Given the description of an element on the screen output the (x, y) to click on. 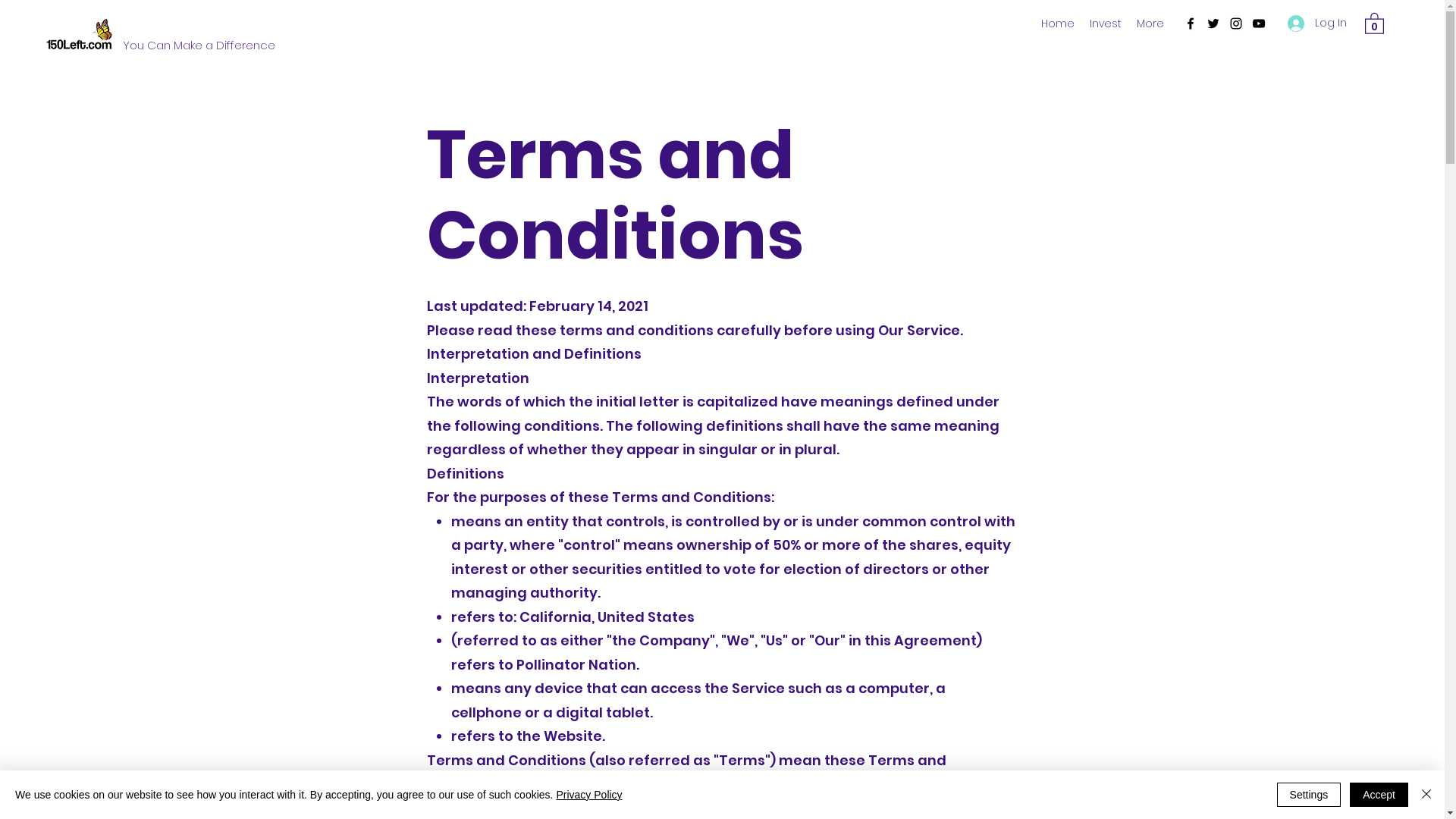
Invest Element type: text (1105, 23)
0 Element type: text (1374, 22)
Accept Element type: text (1378, 794)
TWIPLA (Visitor Analytics) Element type: hover (1442, 4)
Log In Element type: text (1317, 23)
Privacy Policy Element type: text (588, 794)
Settings Element type: text (1309, 794)
Home Element type: text (1057, 23)
